Given the description of an element on the screen output the (x, y) to click on. 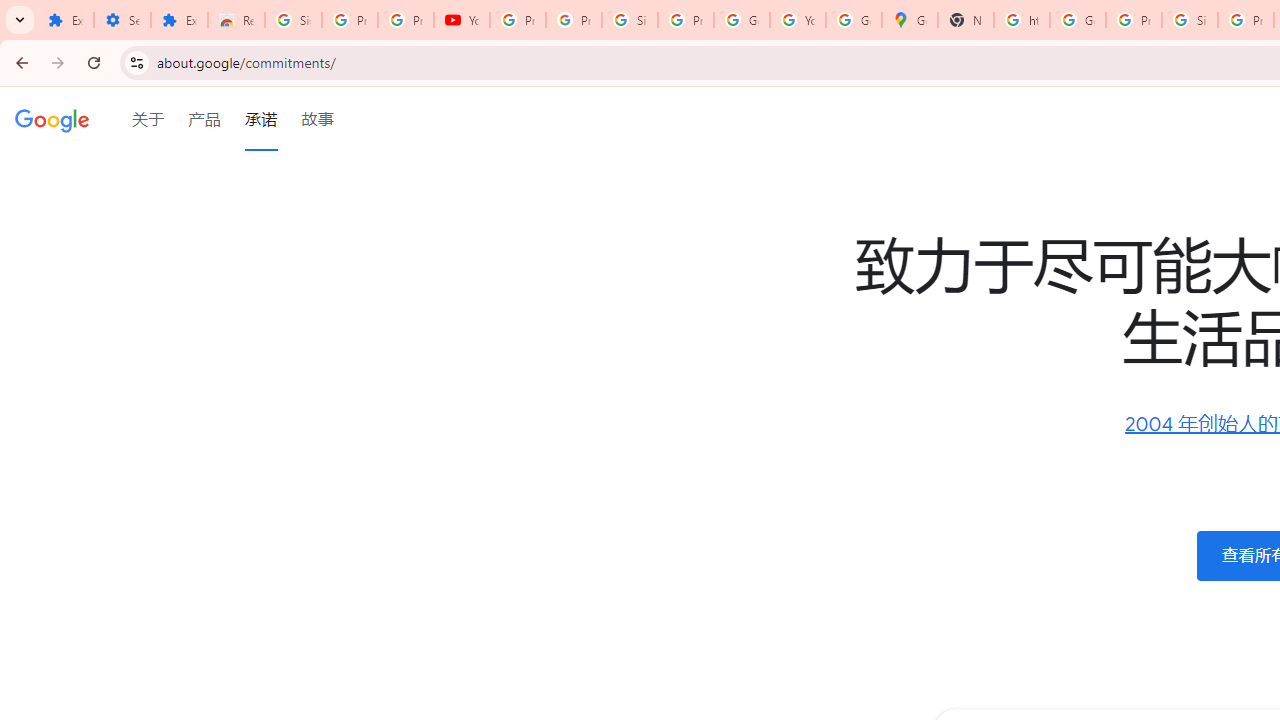
Sign in - Google Accounts (1190, 20)
Google (52, 119)
Reviews: Helix Fruit Jump Arcade Game (235, 20)
Extensions (179, 20)
Google Account (742, 20)
YouTube (461, 20)
Sign in - Google Accounts (293, 20)
